Given the description of an element on the screen output the (x, y) to click on. 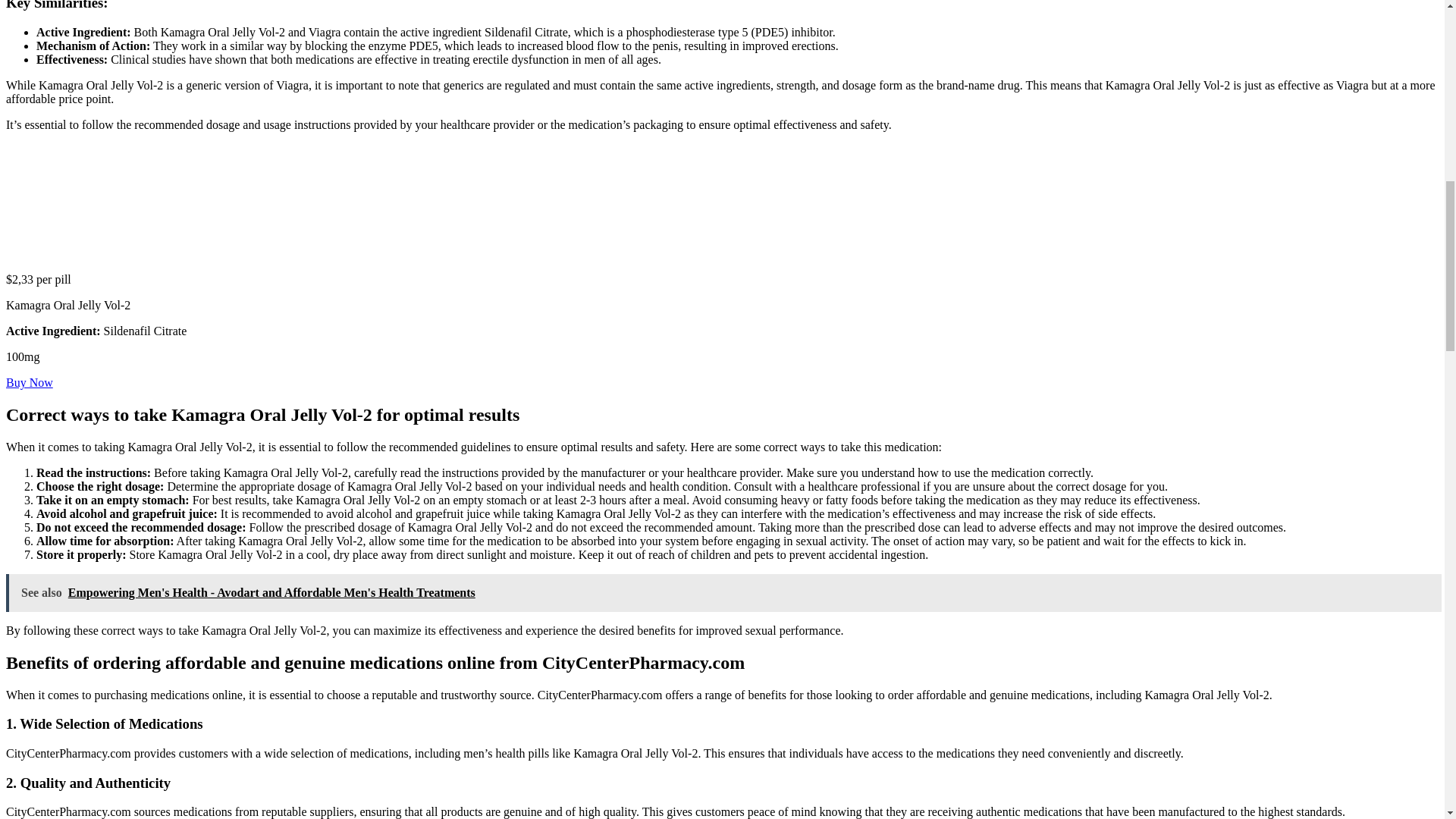
Buy Now (28, 382)
